Given the description of an element on the screen output the (x, y) to click on. 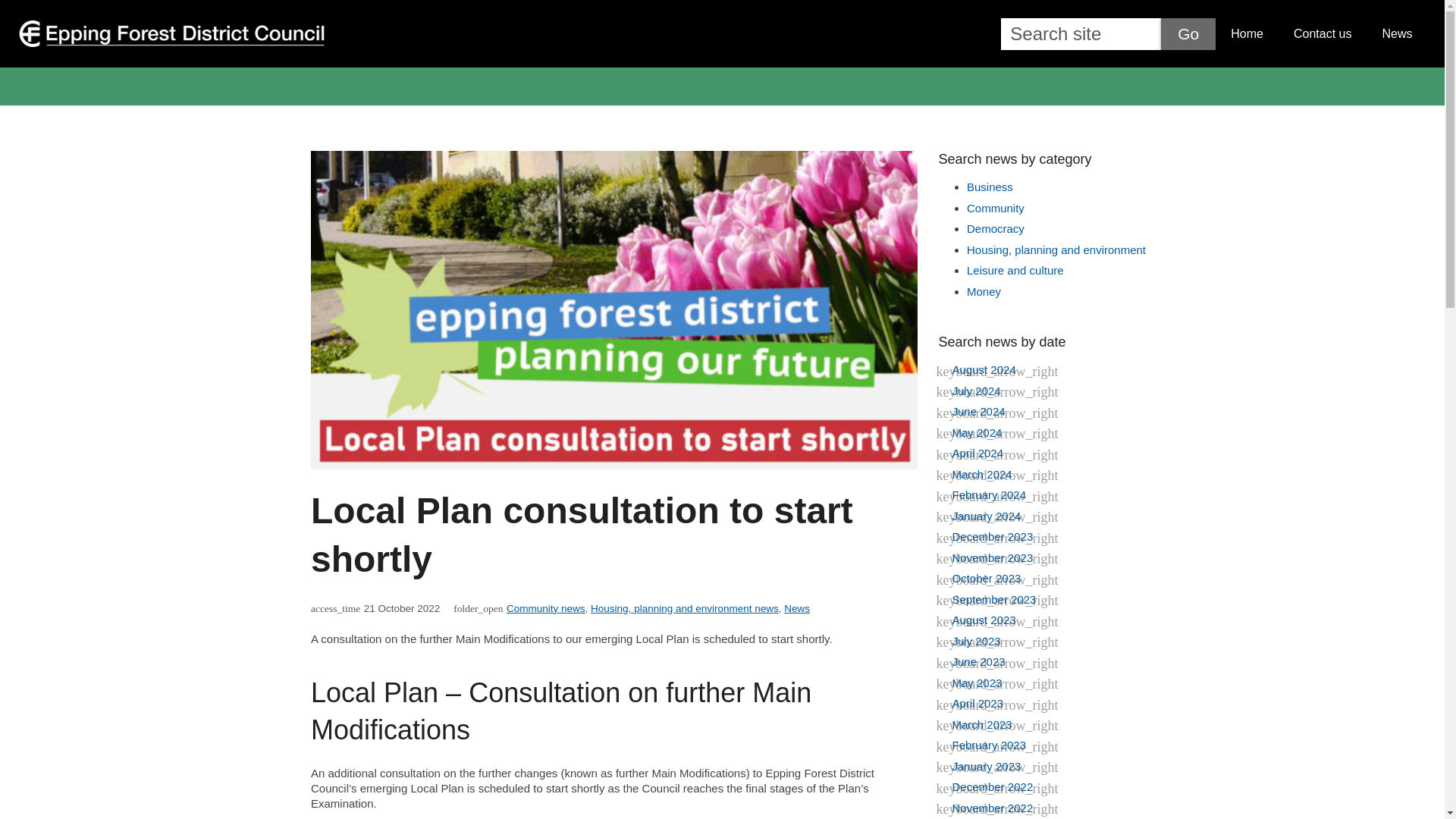
News (796, 608)
Housing, planning and environment (1055, 249)
Go (1187, 33)
Go (1187, 33)
Go (1187, 33)
Contact us (1322, 34)
Democracy (995, 228)
Community (995, 207)
Community news (545, 608)
Home (1246, 34)
